Given the description of an element on the screen output the (x, y) to click on. 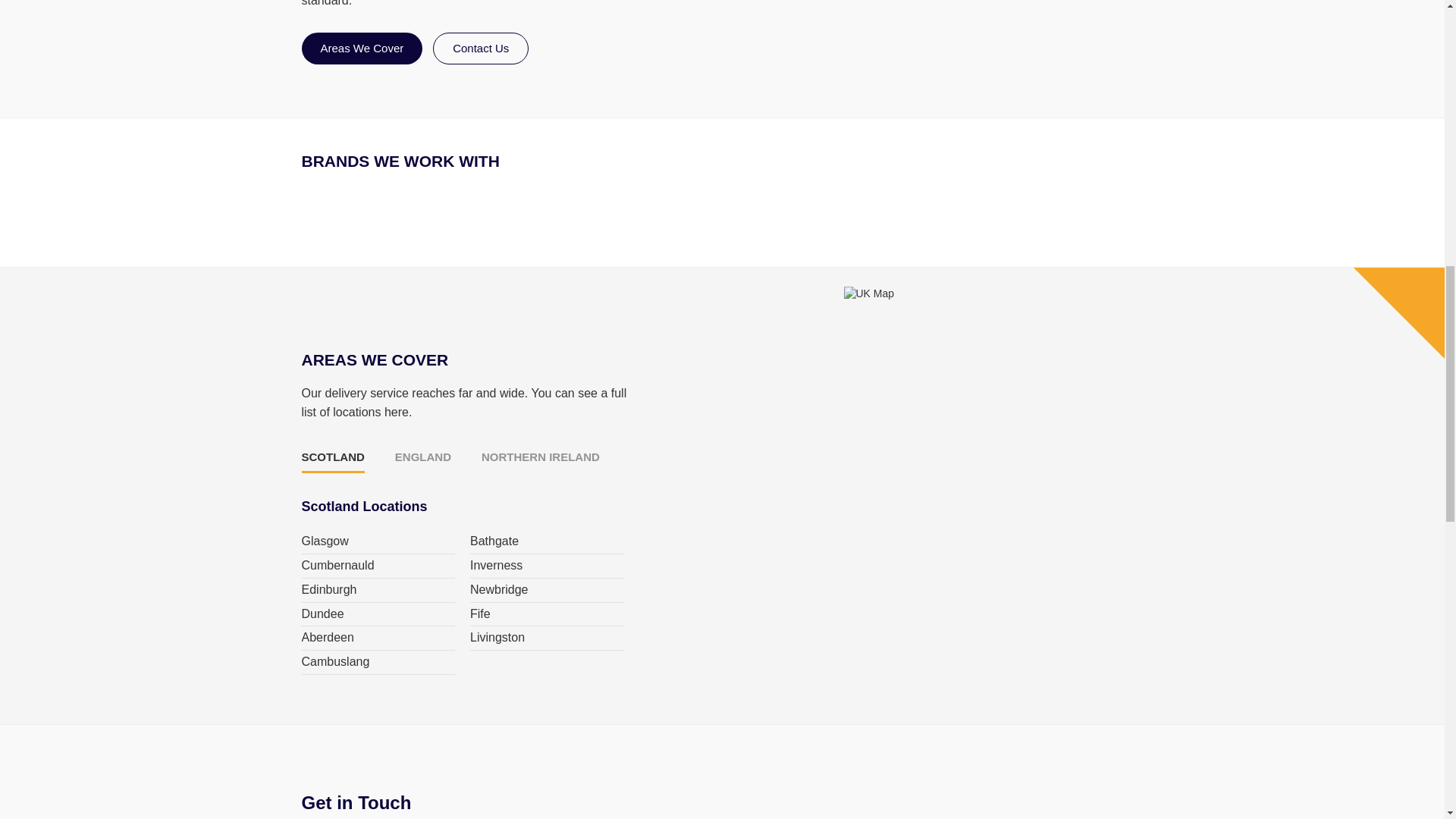
Contact Us (480, 47)
Areas We Cover (362, 47)
